Given the description of an element on the screen output the (x, y) to click on. 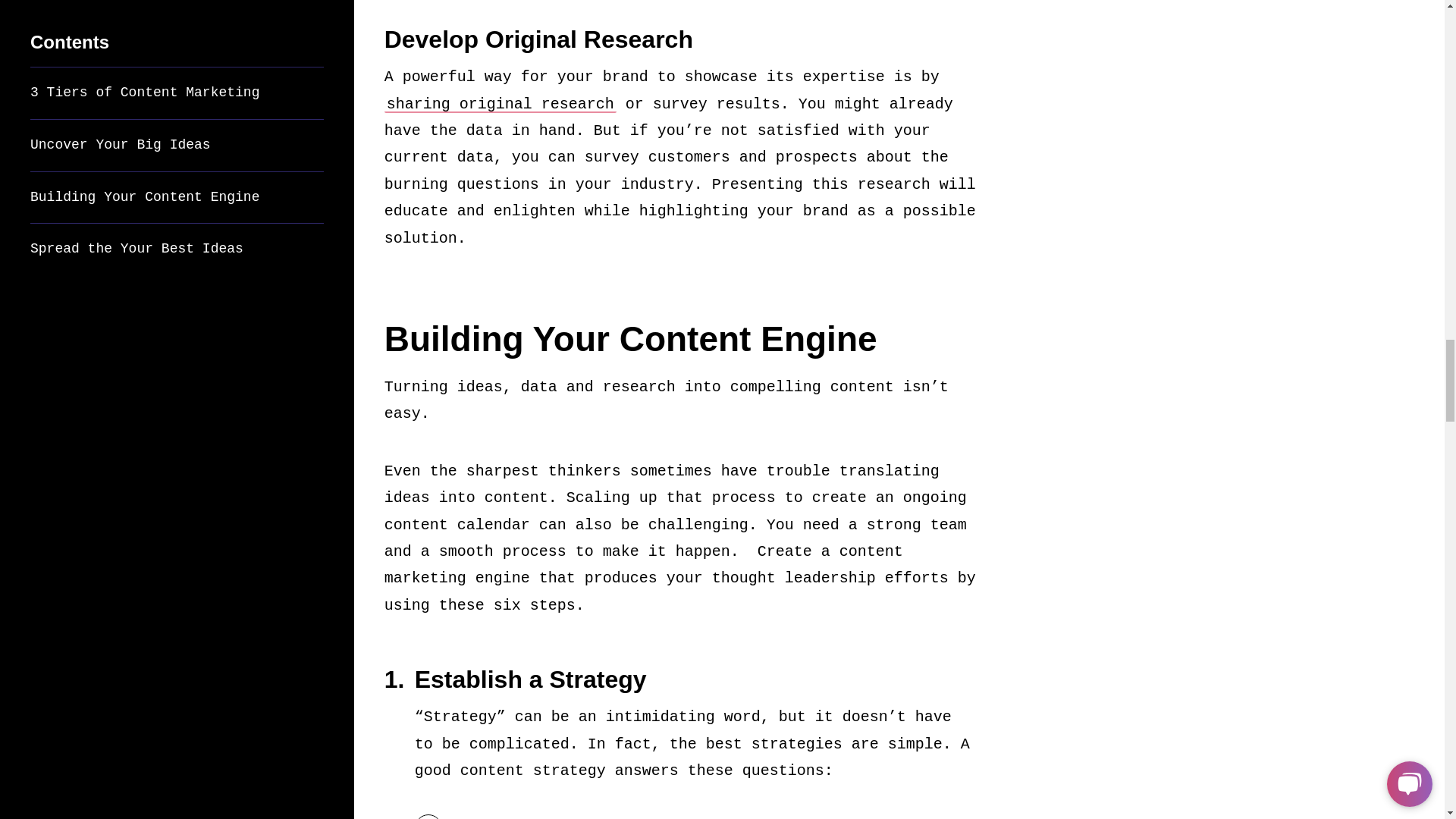
sharing original research (499, 104)
